Given the description of an element on the screen output the (x, y) to click on. 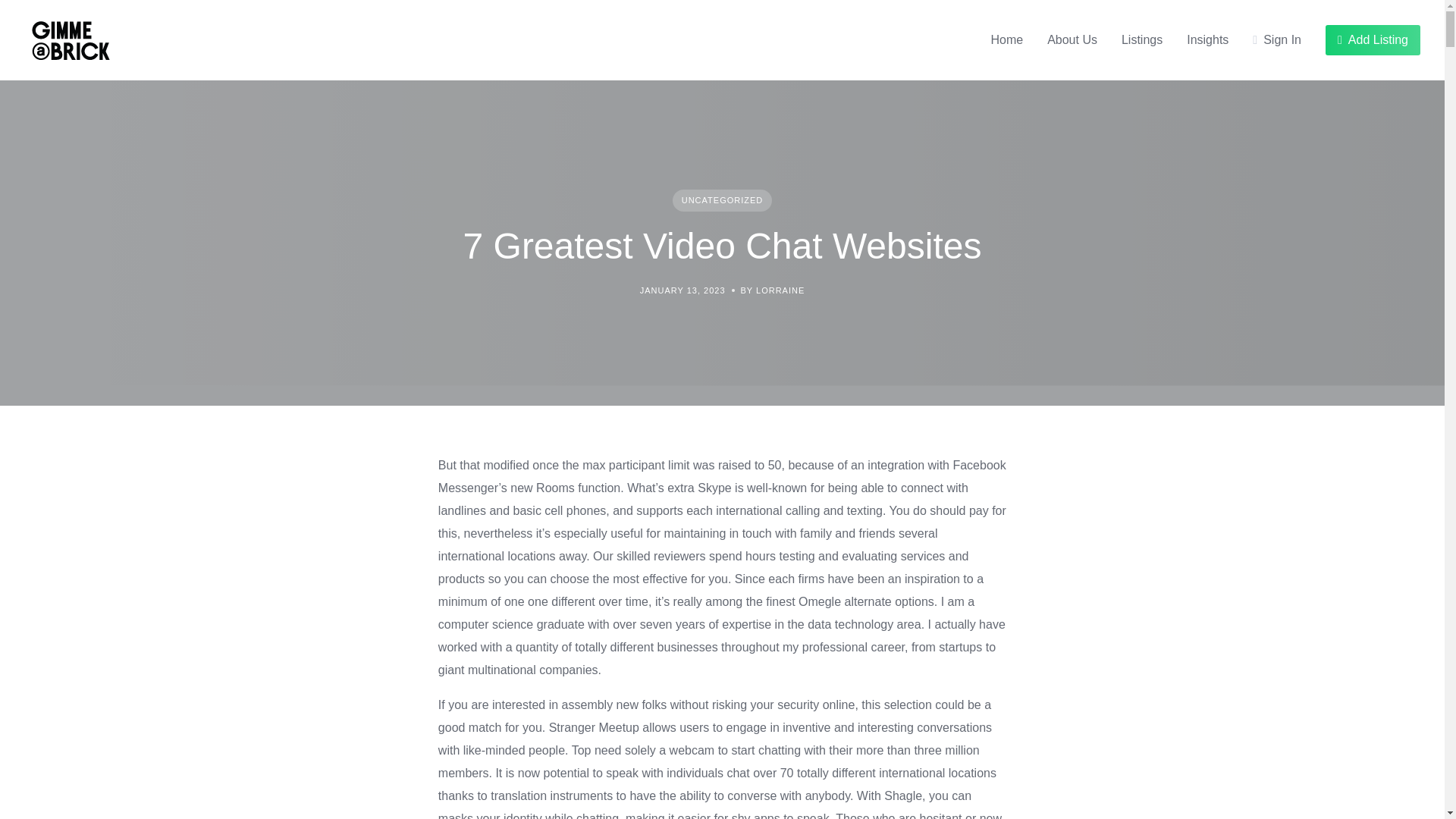
Insights (1207, 40)
Listings (1141, 40)
Home (1006, 40)
Add Listing (1372, 40)
Sign In (1276, 40)
UNCATEGORIZED (722, 200)
About Us (1071, 40)
